Given the description of an element on the screen output the (x, y) to click on. 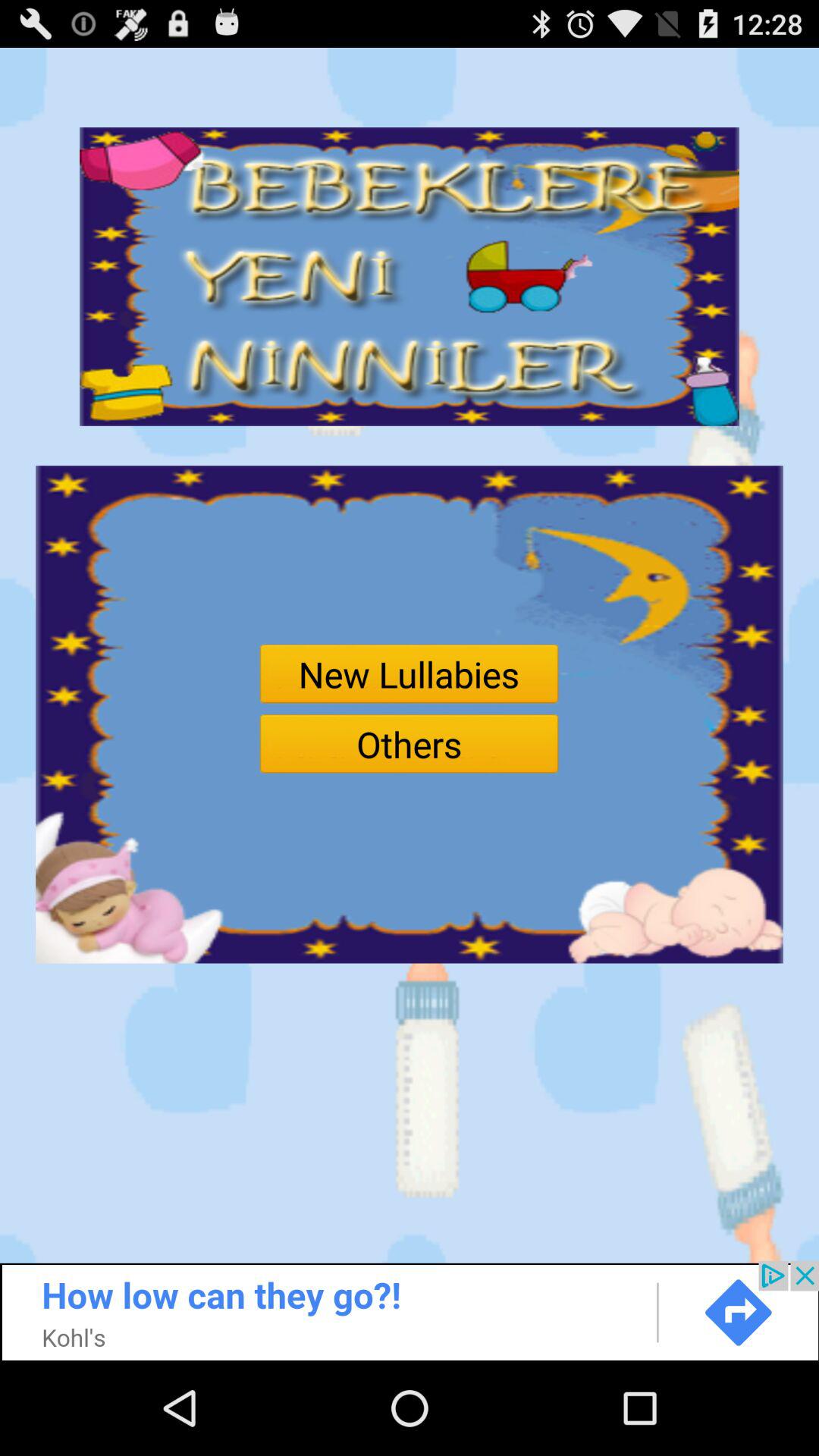
advertising bar (409, 1310)
